Given the description of an element on the screen output the (x, y) to click on. 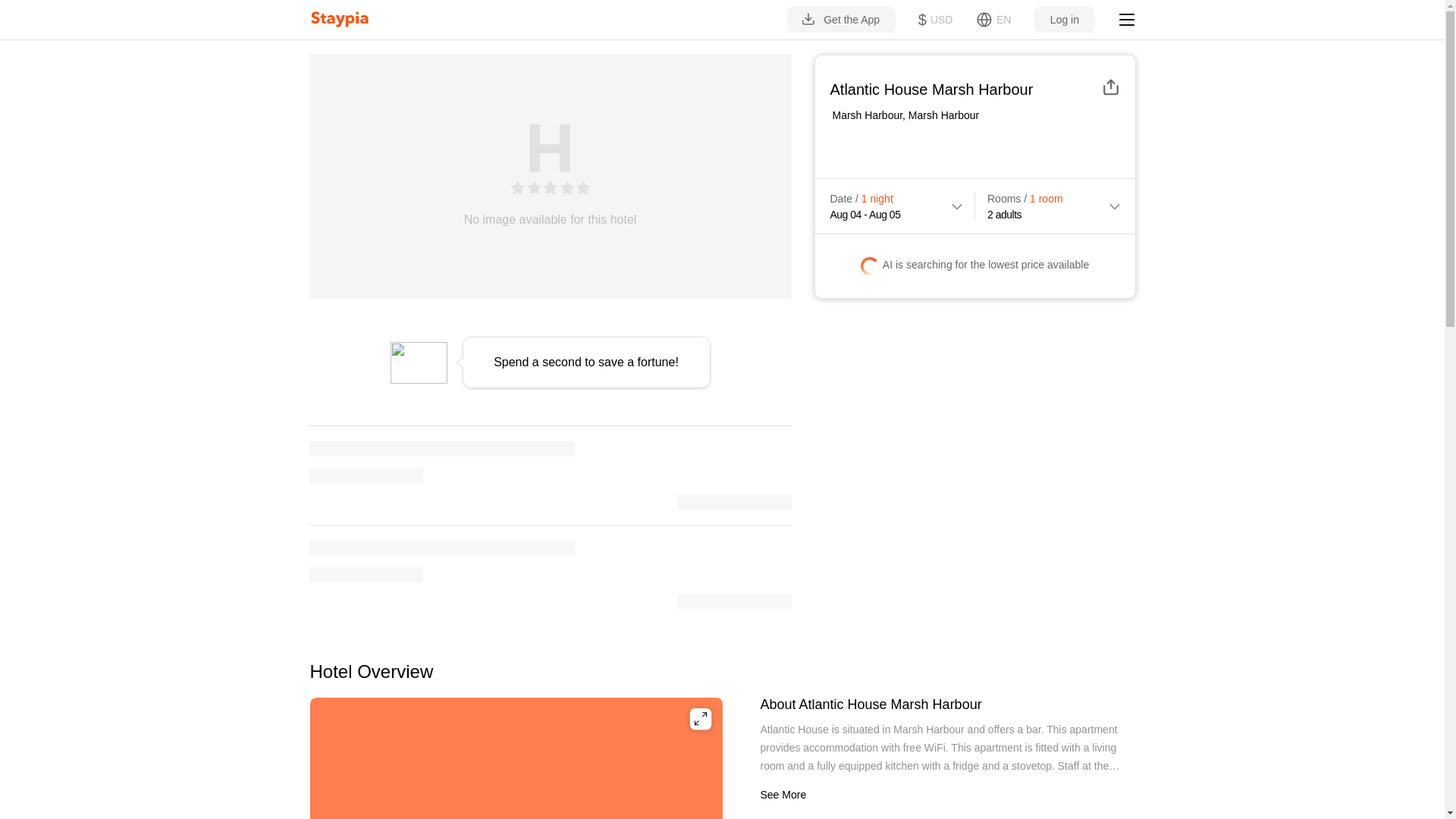
Get the App (841, 19)
Log in (1063, 19)
